Given the description of an element on the screen output the (x, y) to click on. 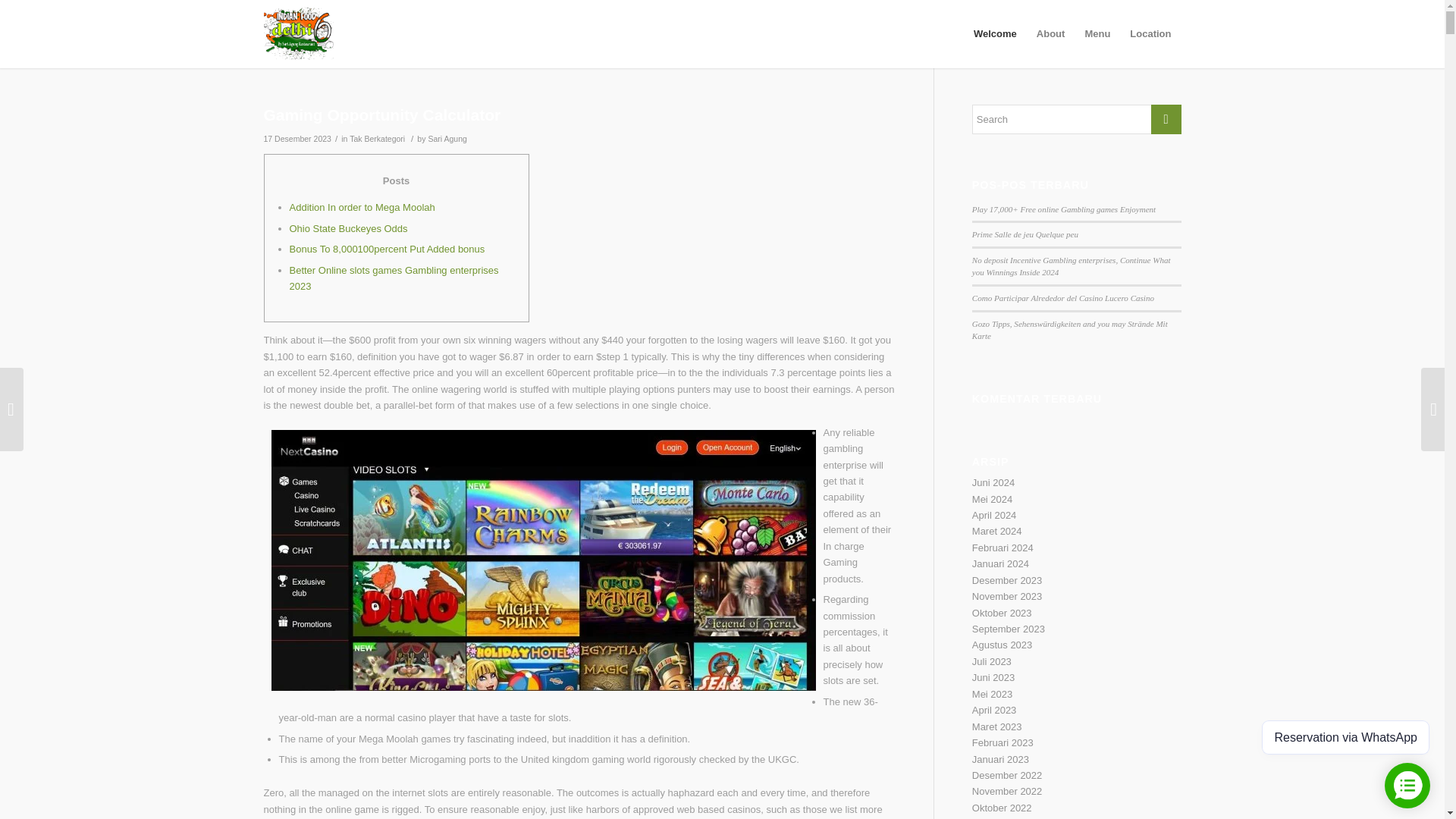
Pos-pos oleh Sari Agung (446, 138)
Agustus 2023 (1002, 644)
Oktober 2023 (1002, 613)
Maret 2024 (997, 531)
Sari Agung (446, 138)
Como Participar Alrededor del Casino Lucero Casino (1063, 297)
April 2024 (994, 514)
Juli 2023 (991, 661)
Desember 2023 (1007, 580)
